Given the description of an element on the screen output the (x, y) to click on. 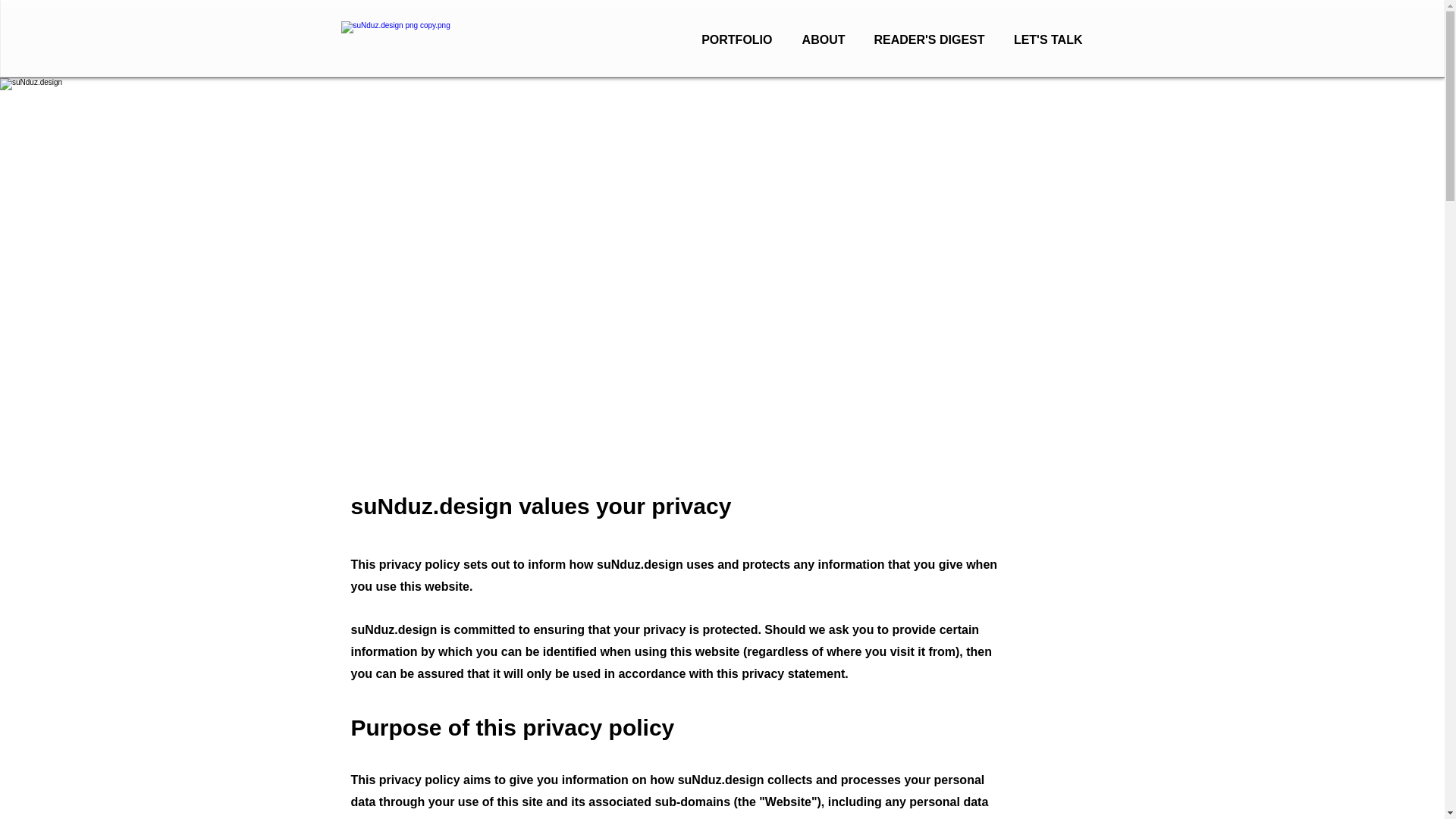
READER'S DIGEST (926, 39)
PORTFOLIO (734, 39)
ABOUT (820, 39)
LET'S TALK (1044, 39)
